Given the description of an element on the screen output the (x, y) to click on. 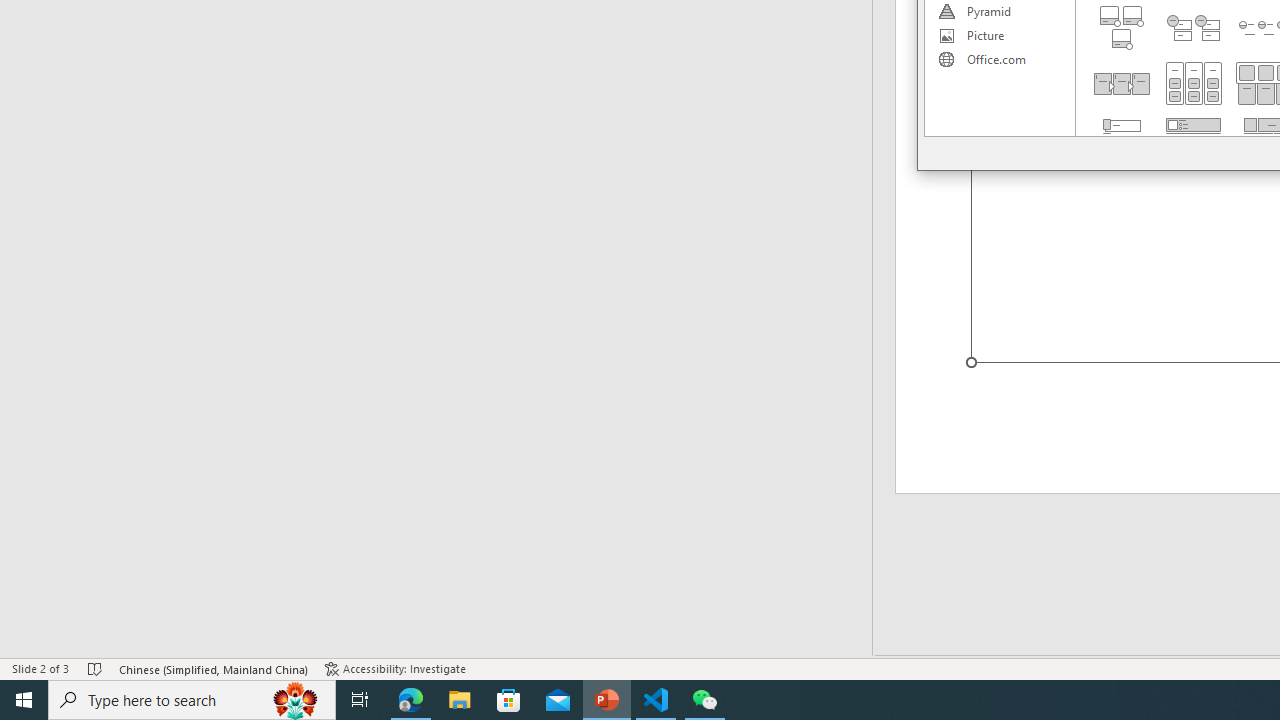
Visual Studio Code - 1 running window (656, 699)
Office.com (999, 60)
Grouped List (1194, 84)
Picture Strips (1121, 139)
Accessibility Checker Accessibility: Investigate (395, 668)
Microsoft Edge - 1 running window (411, 699)
Detailed Process (1121, 84)
